Given the description of an element on the screen output the (x, y) to click on. 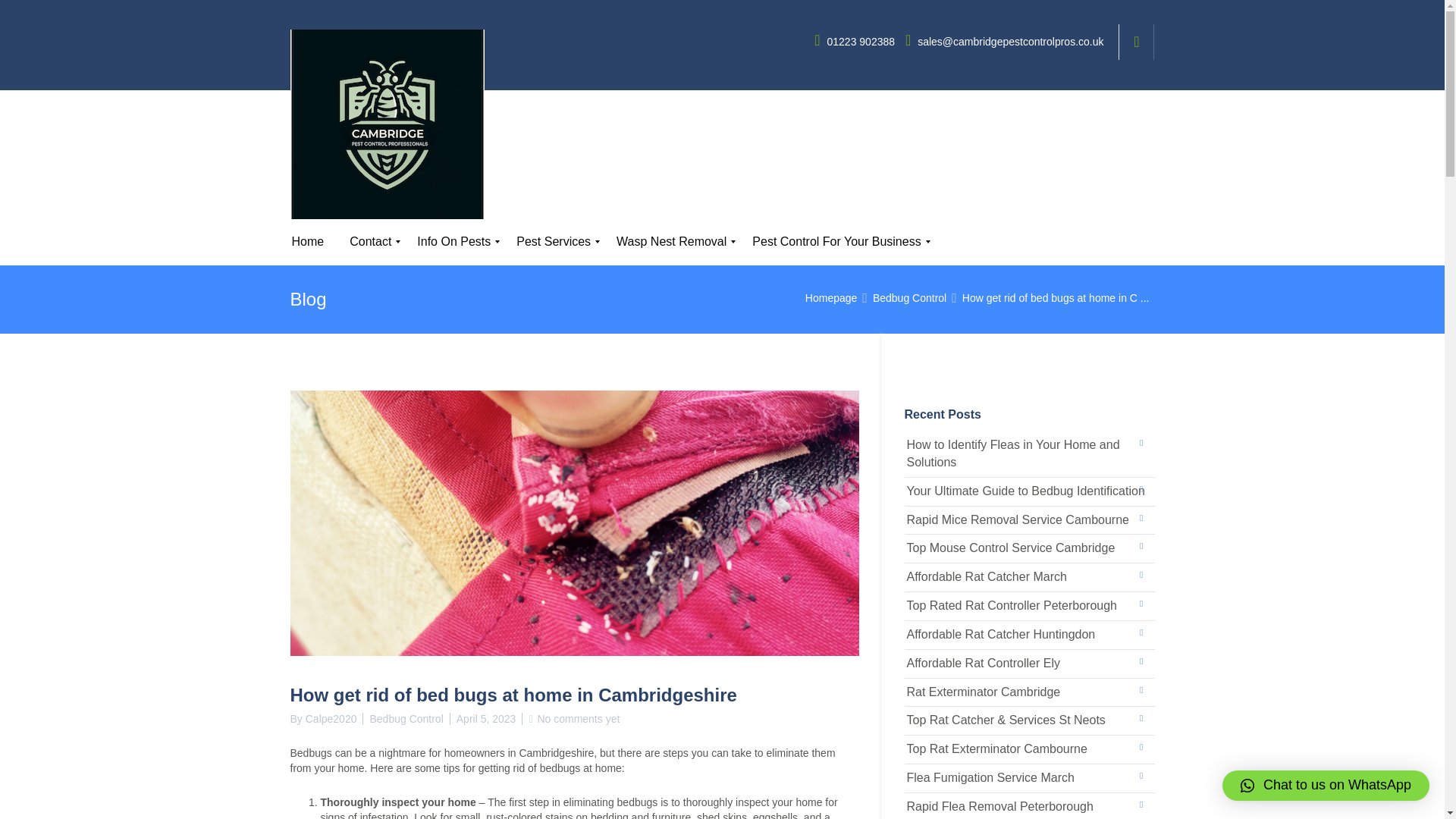
Homepage (831, 297)
Search (1141, 242)
How get rid of bed bugs at home in Cambridgeshire (1056, 297)
Pest Services (553, 241)
Contact (370, 245)
01223 902388 (855, 41)
Contact (370, 241)
Wasp Nest Removal (671, 241)
Home (308, 241)
Info On Pests (453, 241)
